Given the description of an element on the screen output the (x, y) to click on. 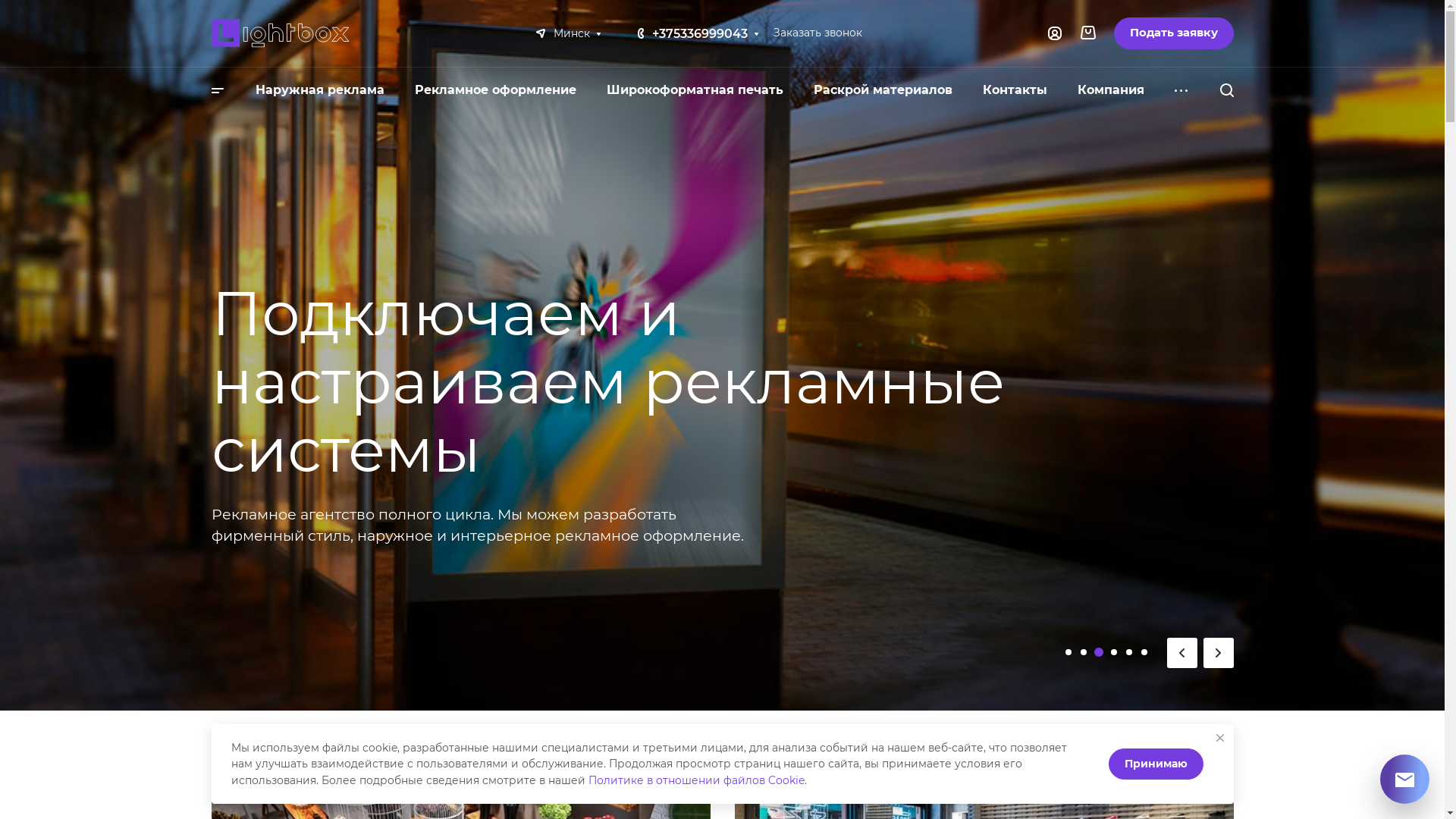
+375336999043 Element type: text (699, 32)
https://lightbox.by/ Element type: hover (279, 32)
